Given the description of an element on the screen output the (x, y) to click on. 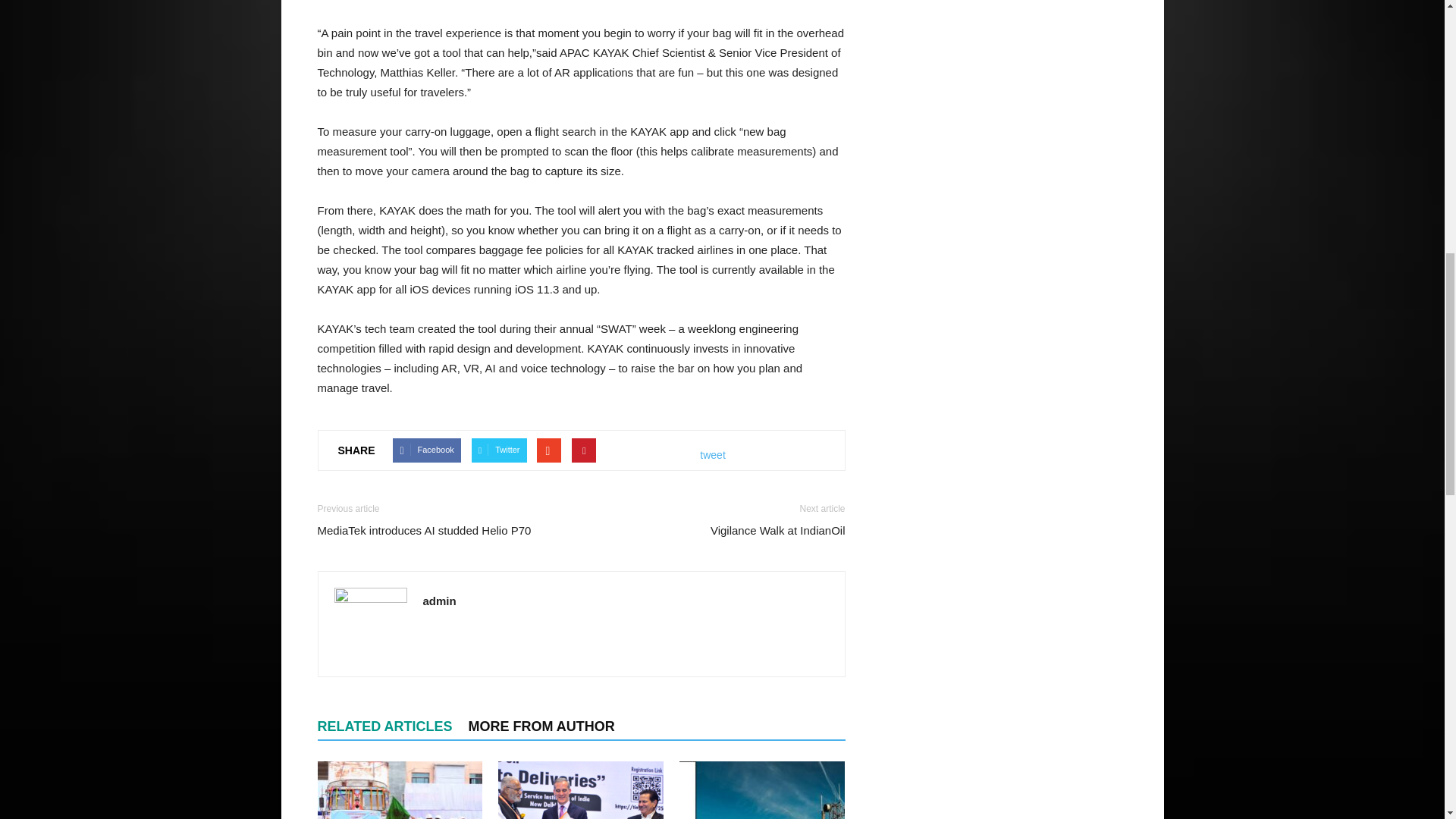
IndianOil launches Storm-X racing fuel (399, 790)
